Given the description of an element on the screen output the (x, y) to click on. 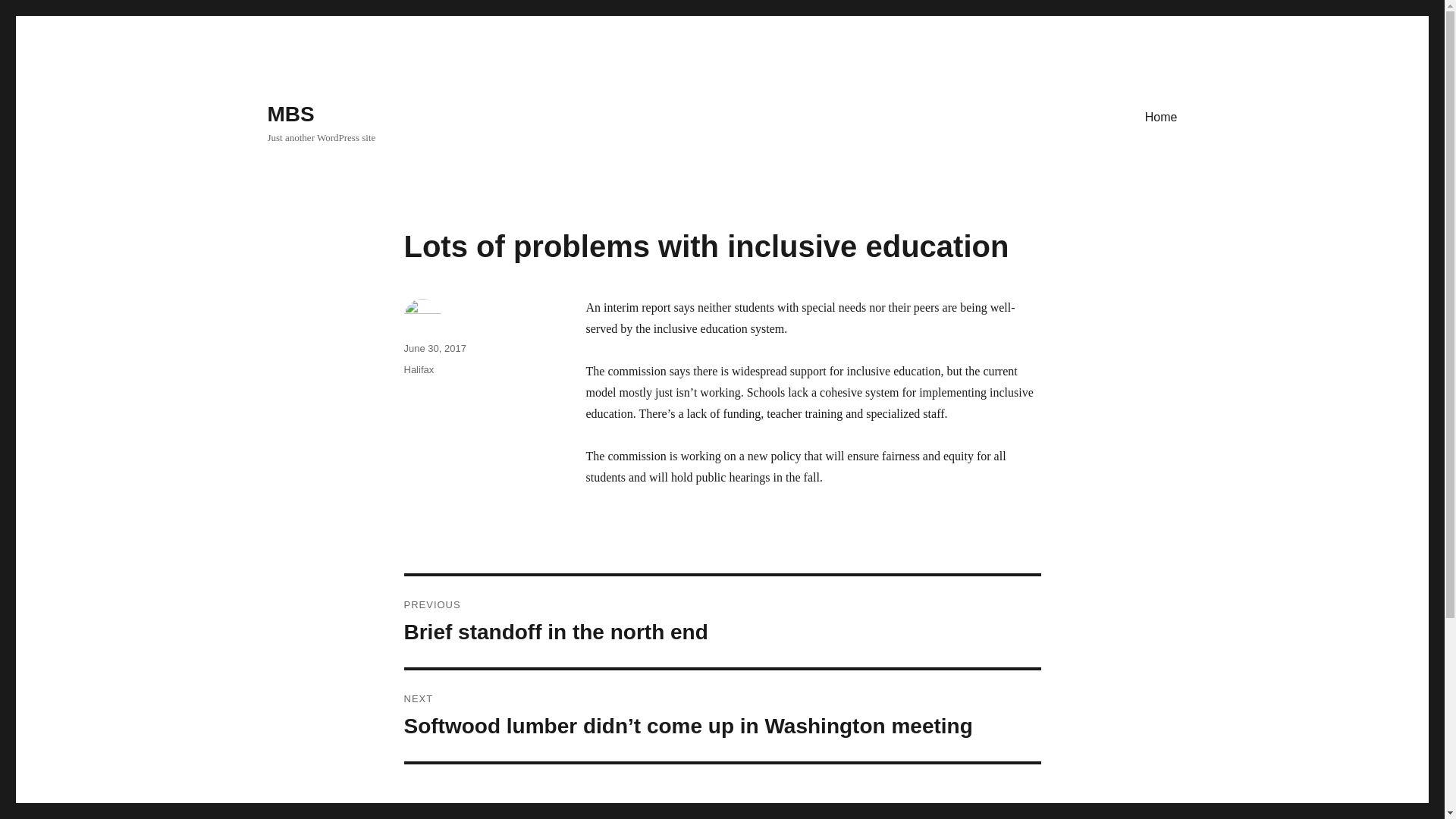
June 30, 2017 (434, 348)
Halifax (418, 369)
Home (1161, 116)
MBS (722, 621)
